Given the description of an element on the screen output the (x, y) to click on. 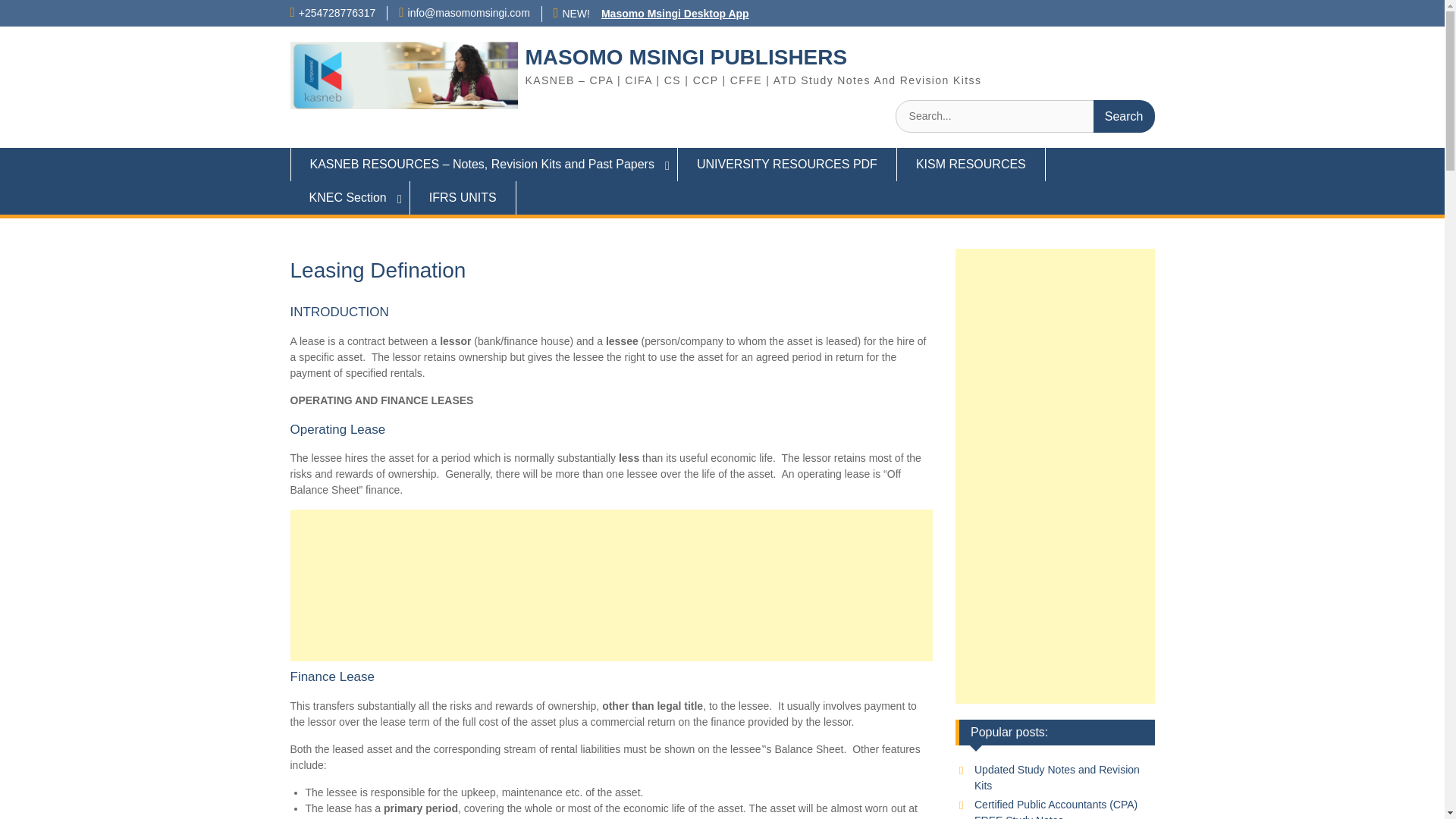
Advertisement (611, 584)
UNIVERSITY RESOURCES PDF (787, 164)
KNEC Section (349, 197)
Updated Study Notes and Revision Kits (1057, 777)
Masomo Msingi Desktop App (675, 13)
Search for: (1024, 115)
Search (1123, 115)
Search (1123, 115)
IFRS UNITS (463, 197)
KISM RESOURCES (970, 164)
